Given the description of an element on the screen output the (x, y) to click on. 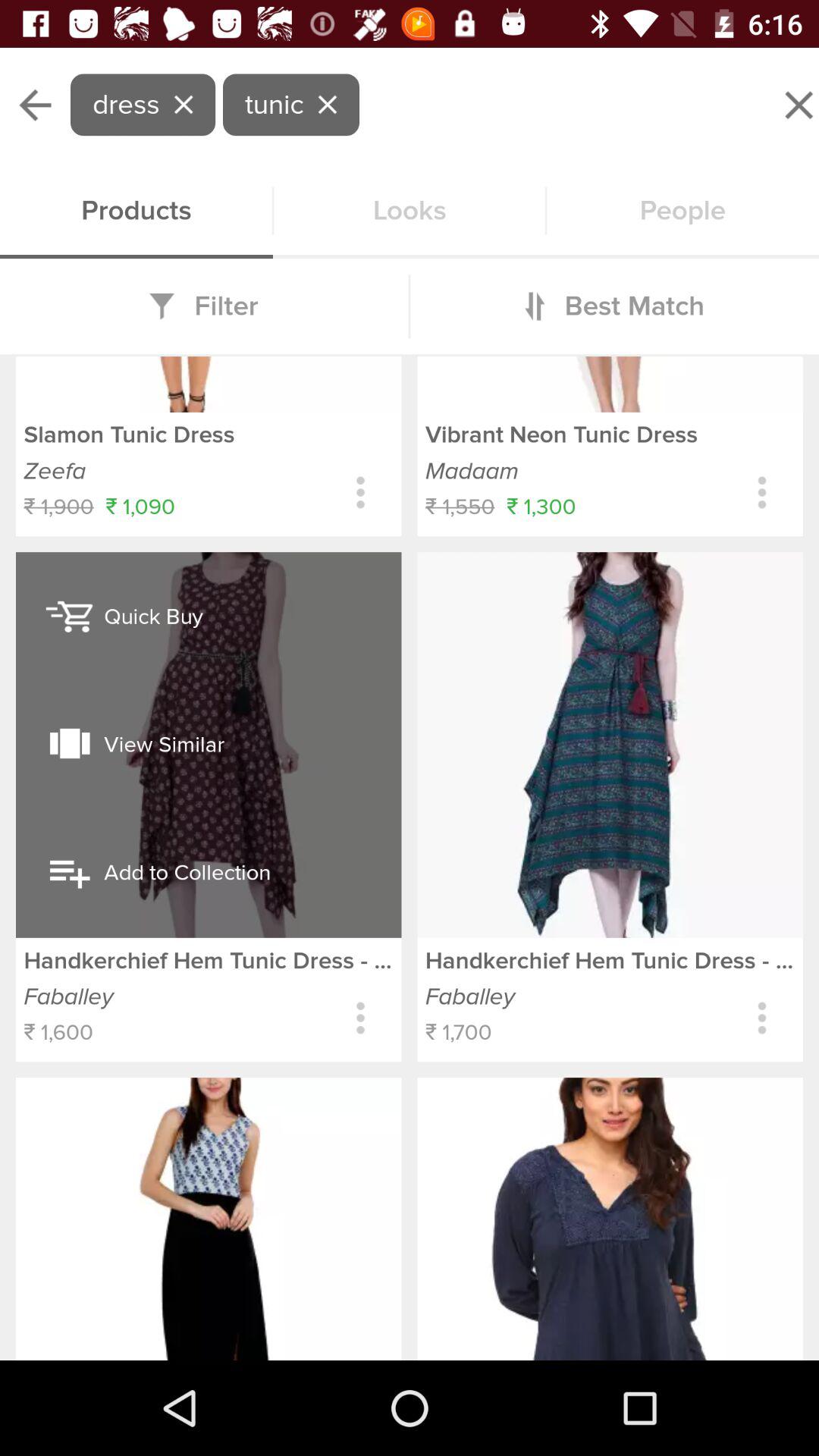
show more options (360, 492)
